Given the description of an element on the screen output the (x, y) to click on. 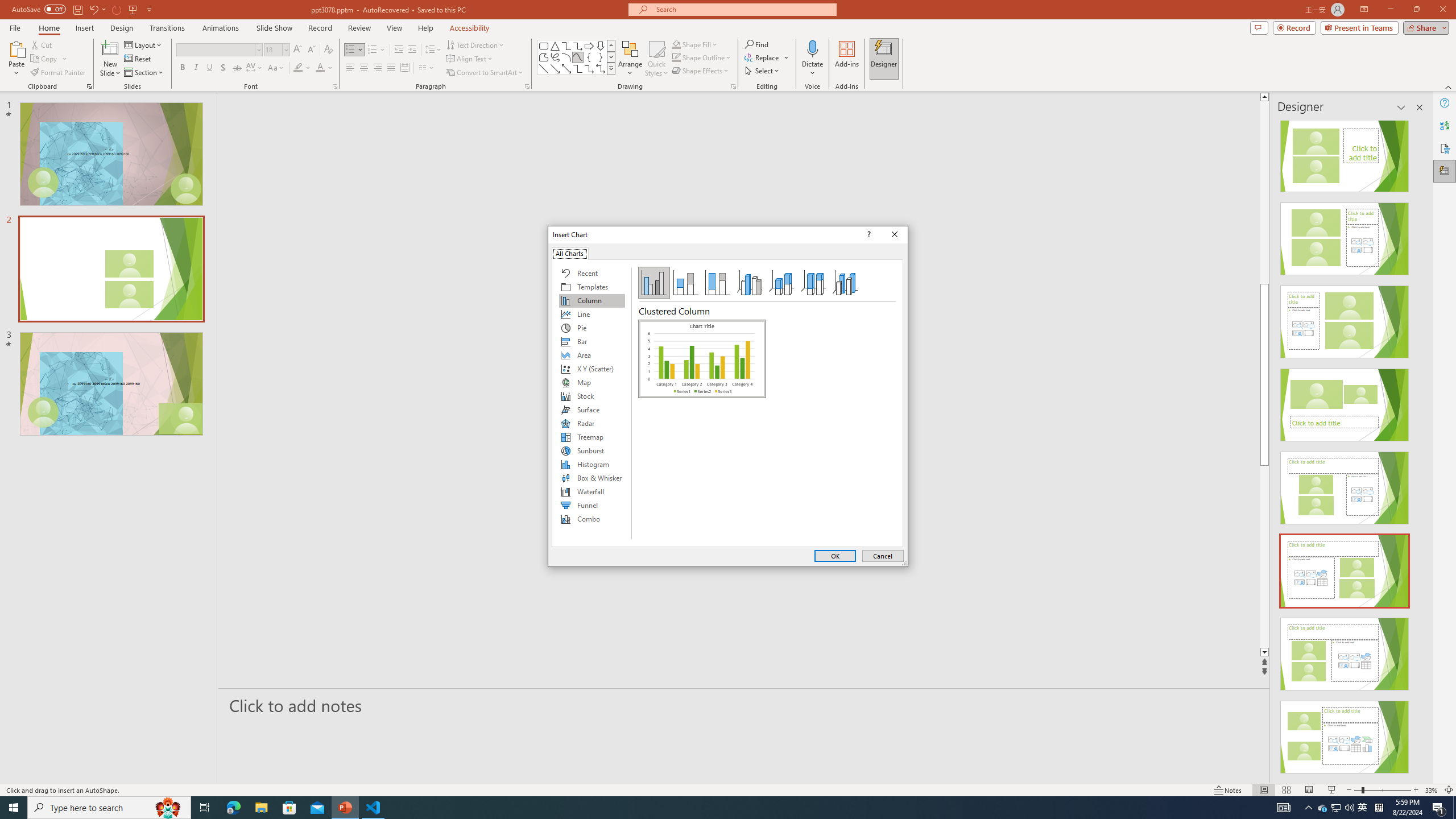
Cancel (882, 555)
Map (591, 382)
